Given the description of an element on the screen output the (x, y) to click on. 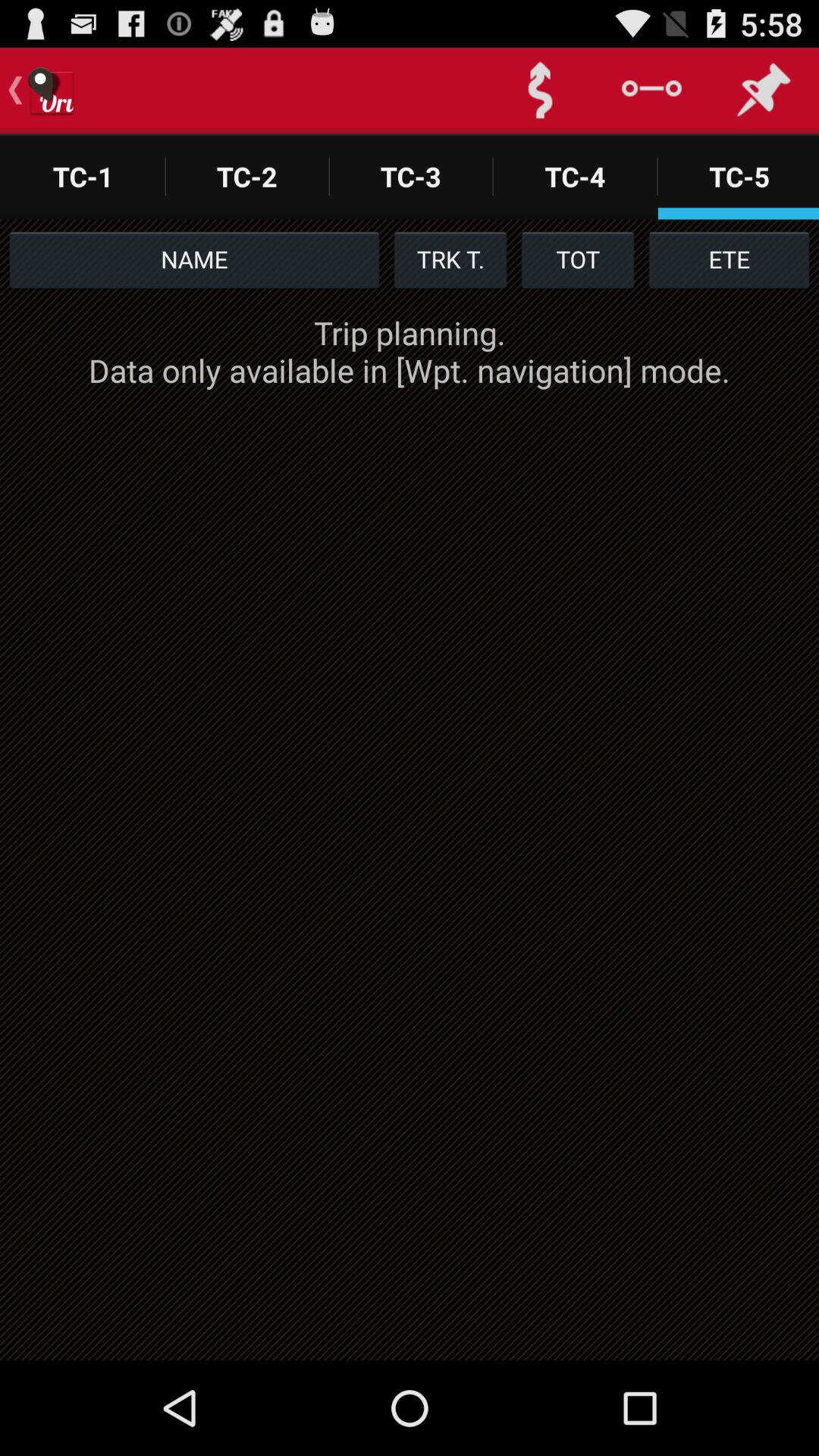
swipe to the ete item (728, 259)
